Given the description of an element on the screen output the (x, y) to click on. 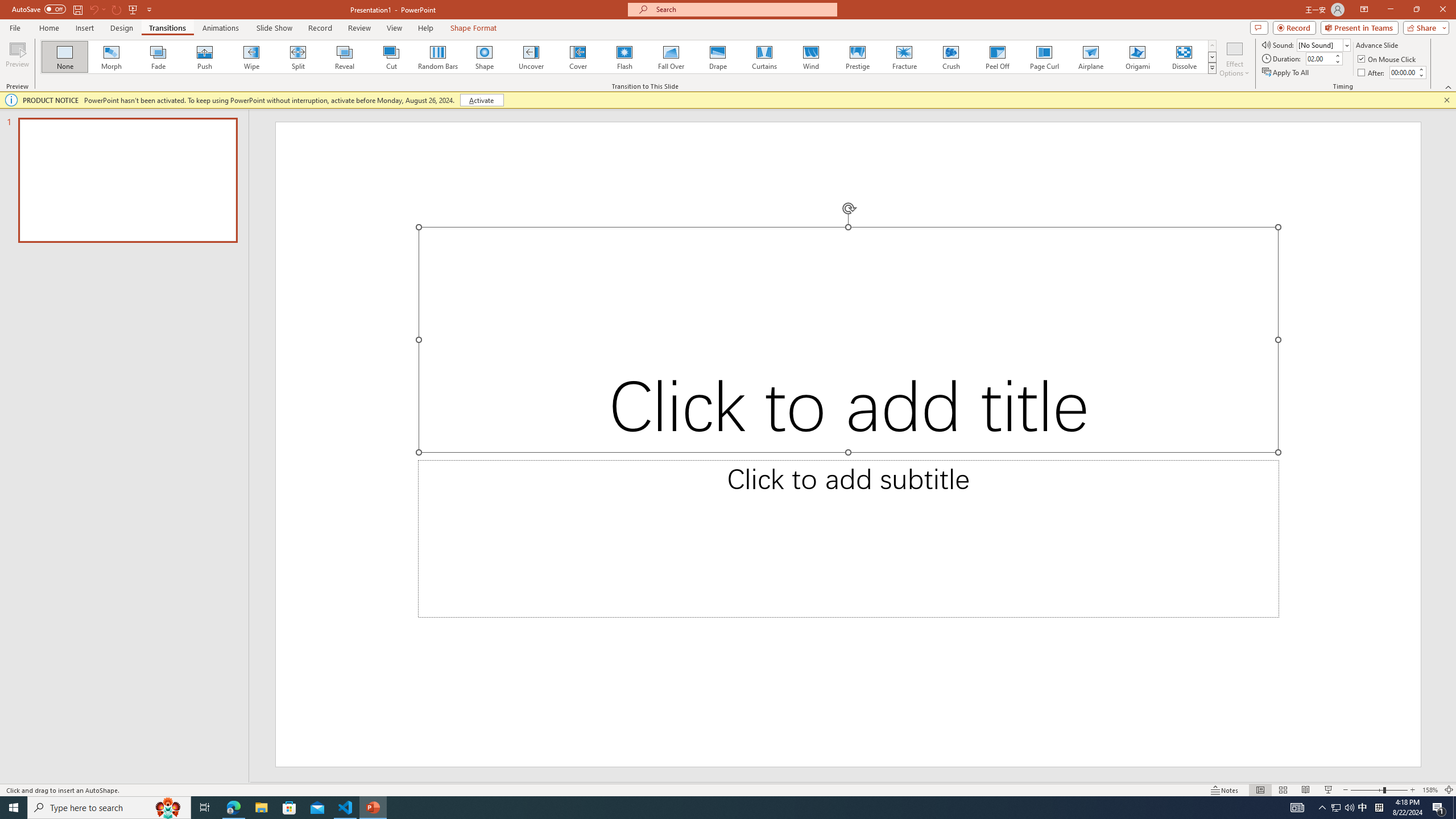
Cover (577, 56)
After (1372, 72)
Origami (1136, 56)
Random Bars (437, 56)
Drape (717, 56)
Sound (1324, 44)
